Given the description of an element on the screen output the (x, y) to click on. 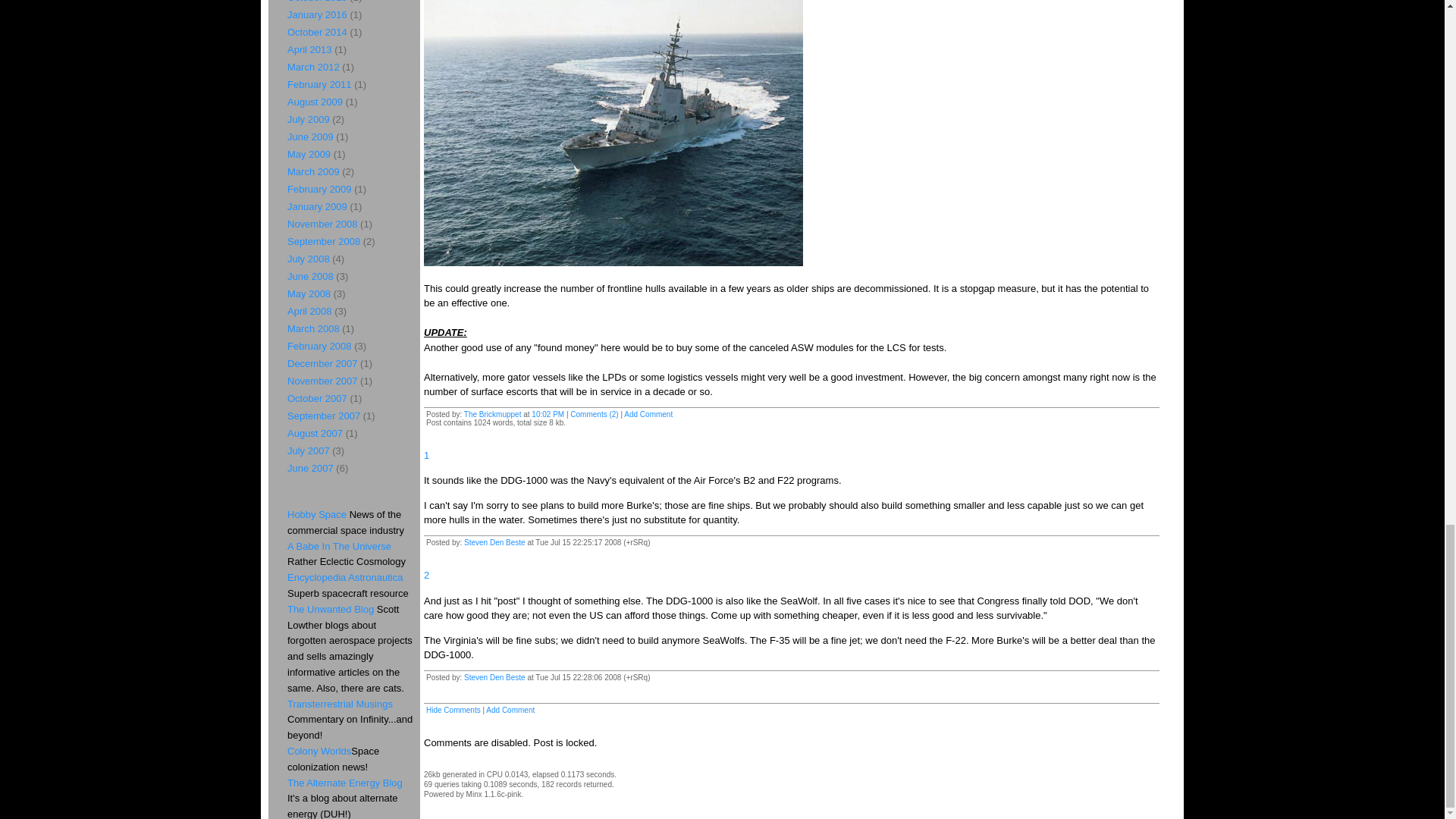
Add Comment (648, 414)
Steven Den Beste (494, 542)
Steven Den Beste (494, 677)
Add Comment (510, 709)
The Brickmuppet (492, 414)
10:02 PM (547, 414)
Hide Comments (453, 709)
